Given the description of an element on the screen output the (x, y) to click on. 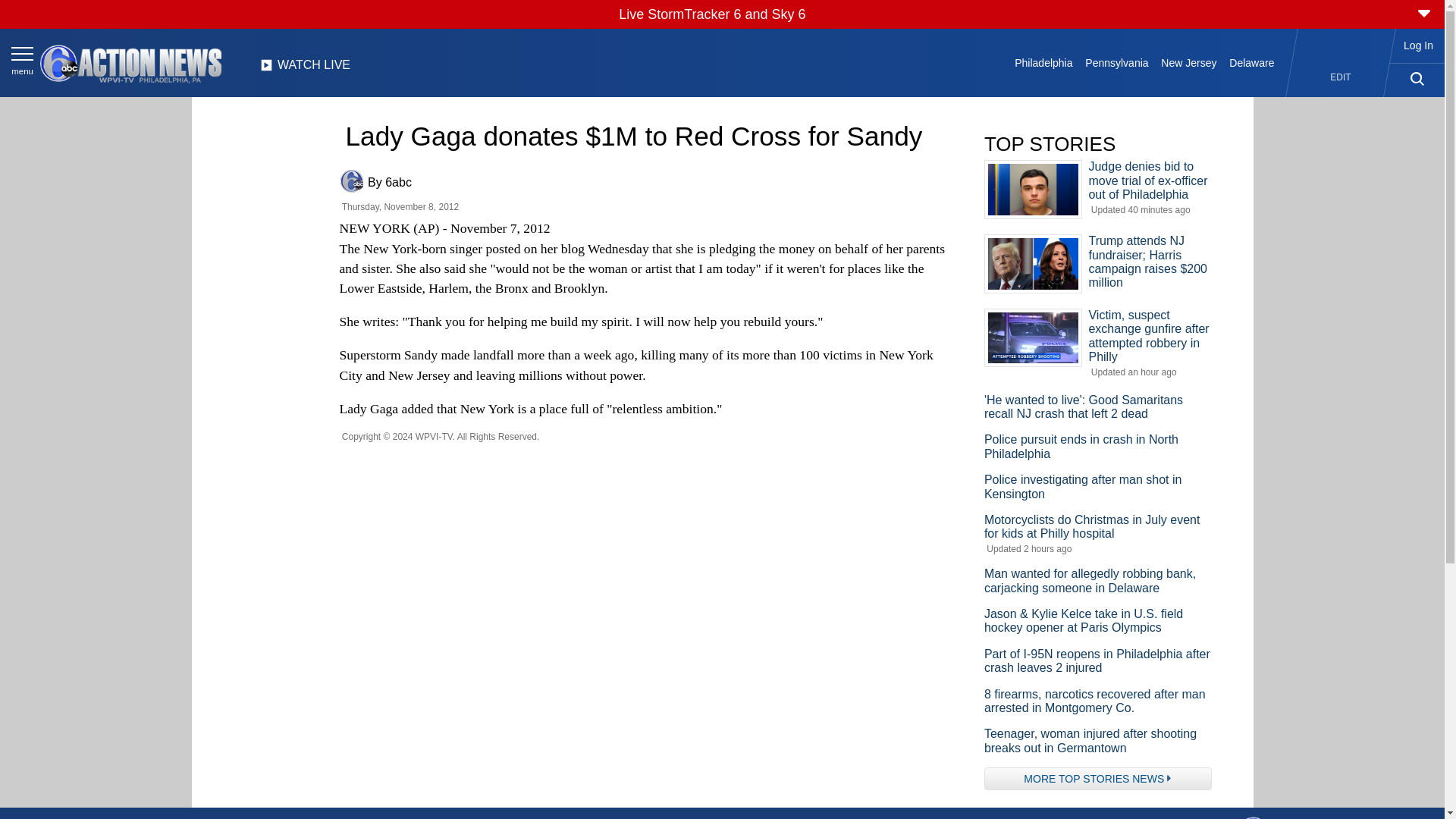
Philadelphia (1043, 62)
Pennsylvania (1116, 62)
EDIT (1340, 77)
New Jersey (1188, 62)
WATCH LIVE (305, 69)
Delaware (1252, 62)
